Given the description of an element on the screen output the (x, y) to click on. 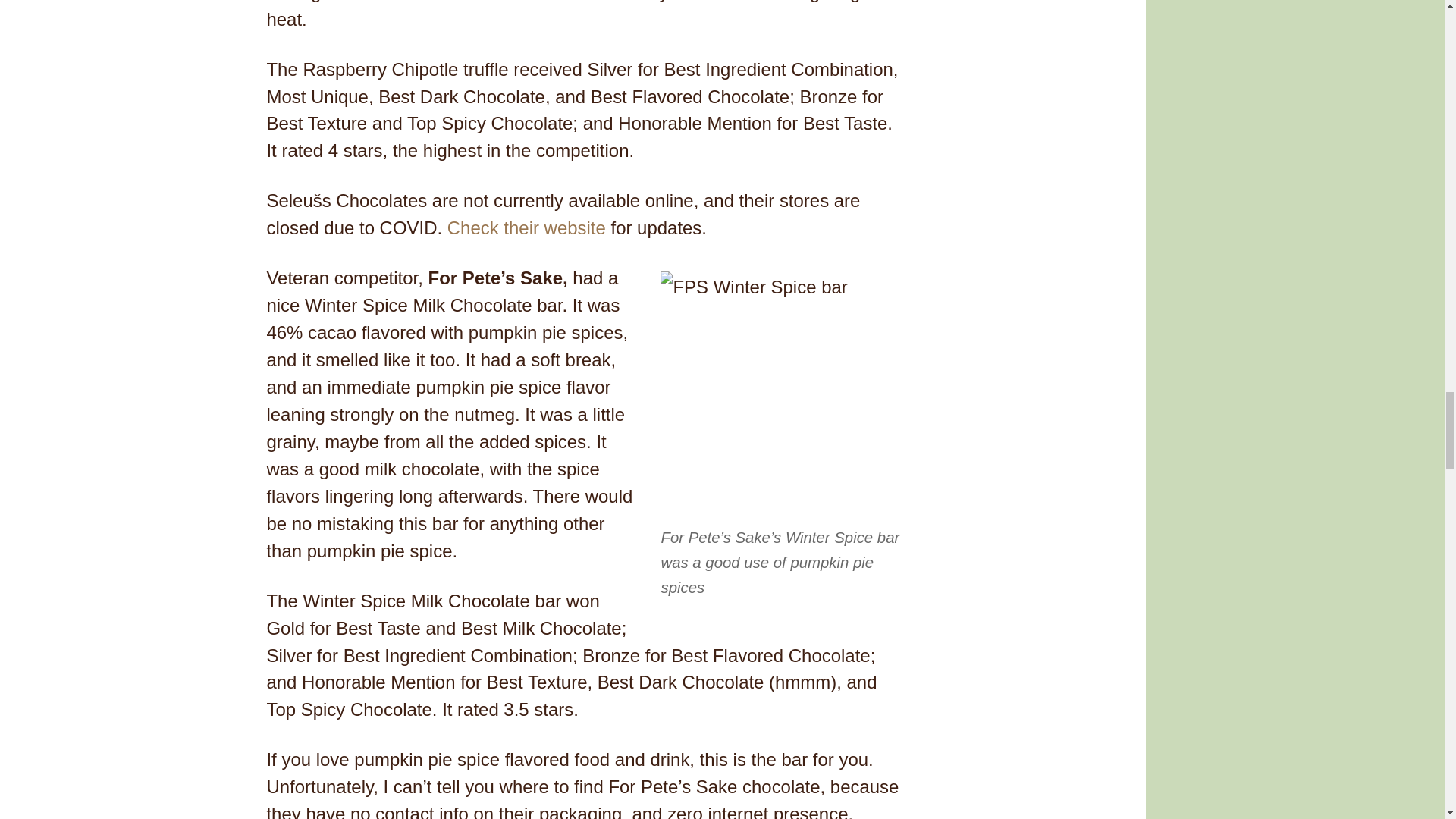
Check their website (525, 227)
